Given the description of an element on the screen output the (x, y) to click on. 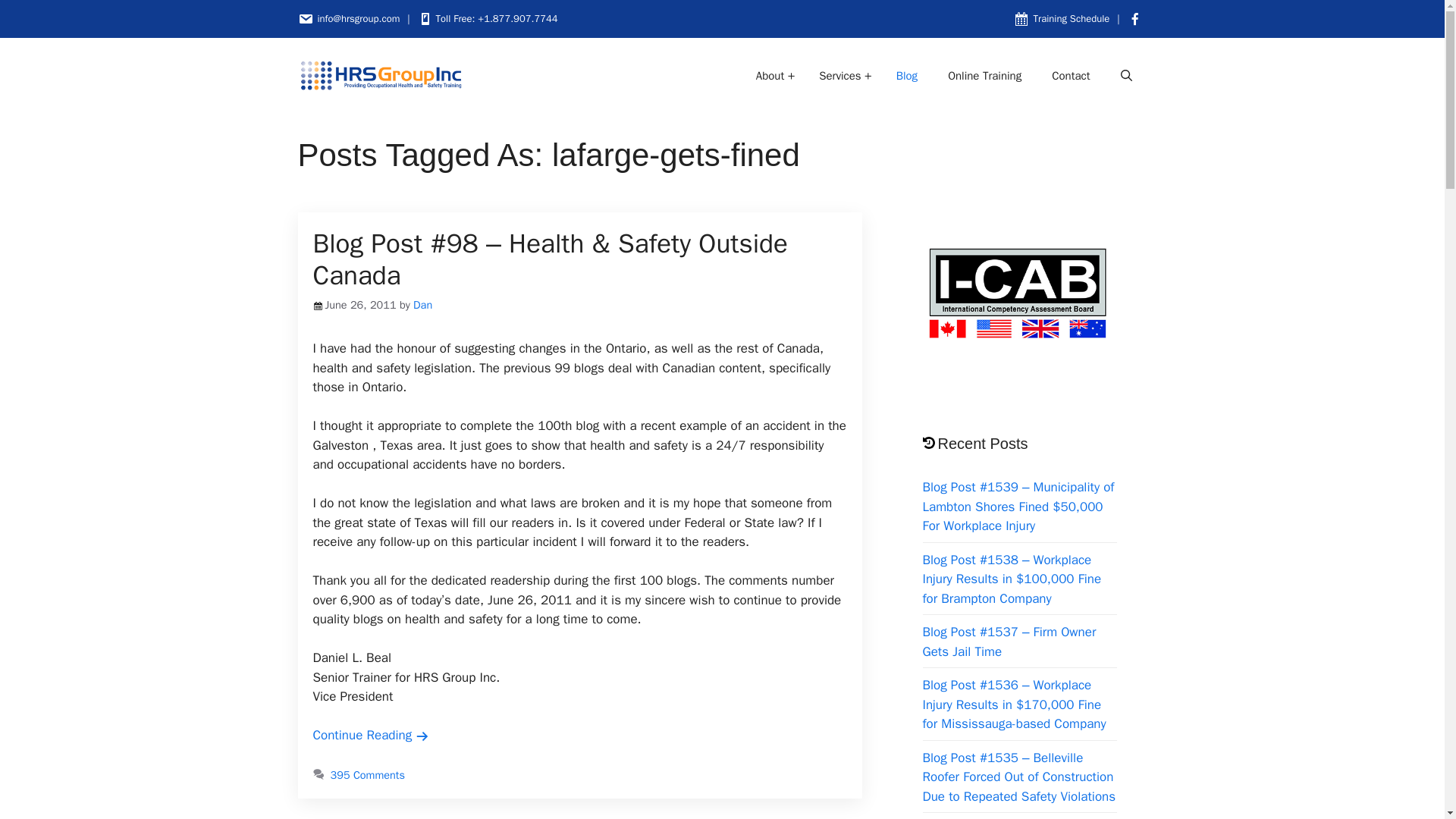
View all posts by Dan (422, 305)
Facebook (1136, 18)
Services (834, 75)
Training Schedule (1071, 18)
About (765, 75)
Online Training (984, 75)
Contact (1070, 75)
Blog (906, 75)
